Given the description of an element on the screen output the (x, y) to click on. 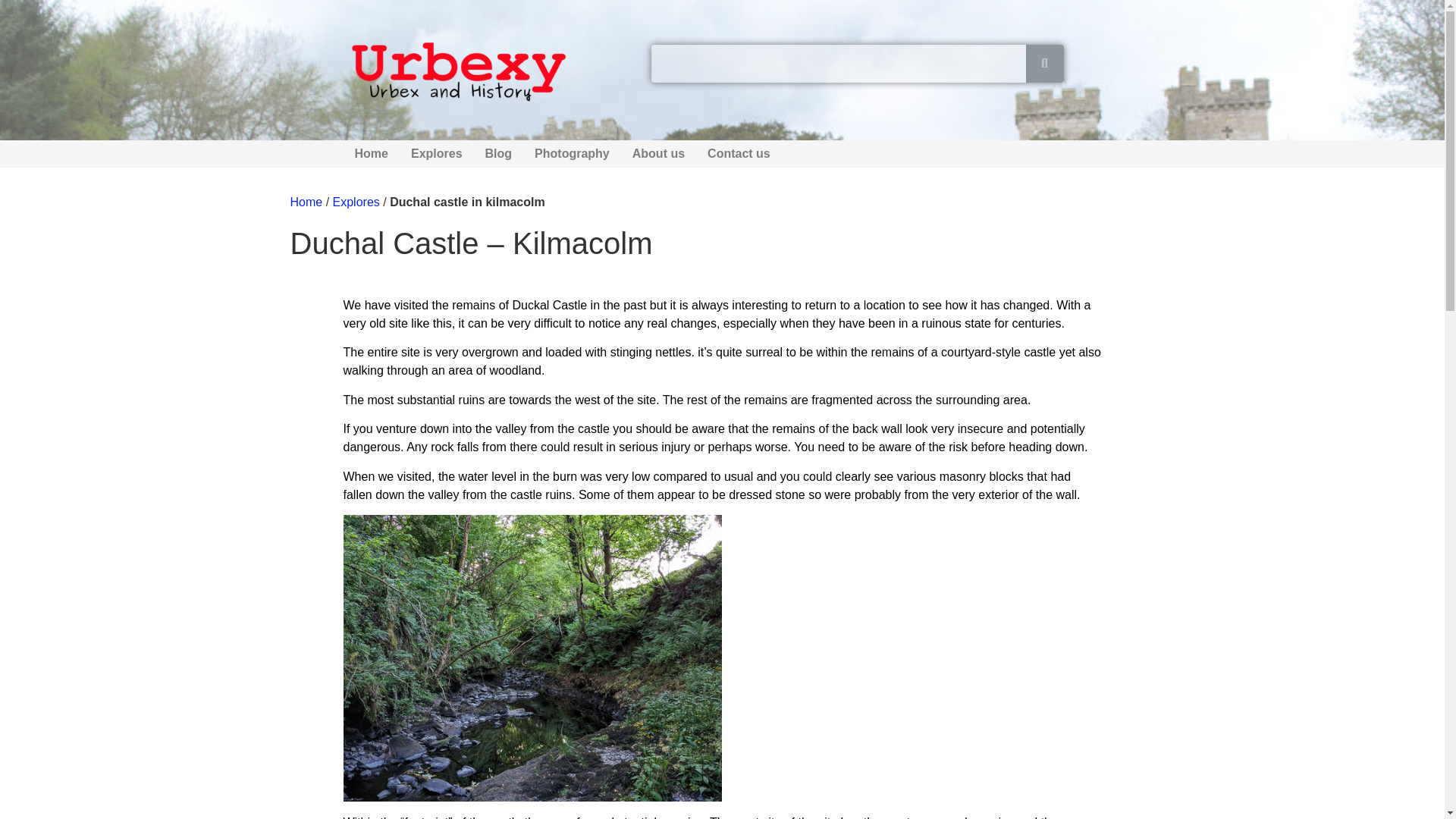
Home (305, 201)
Contact us (738, 153)
Explores (356, 201)
Explores (436, 153)
Photography (571, 153)
Home (370, 153)
About us (658, 153)
Blog (499, 153)
Search (838, 63)
